Given the description of an element on the screen output the (x, y) to click on. 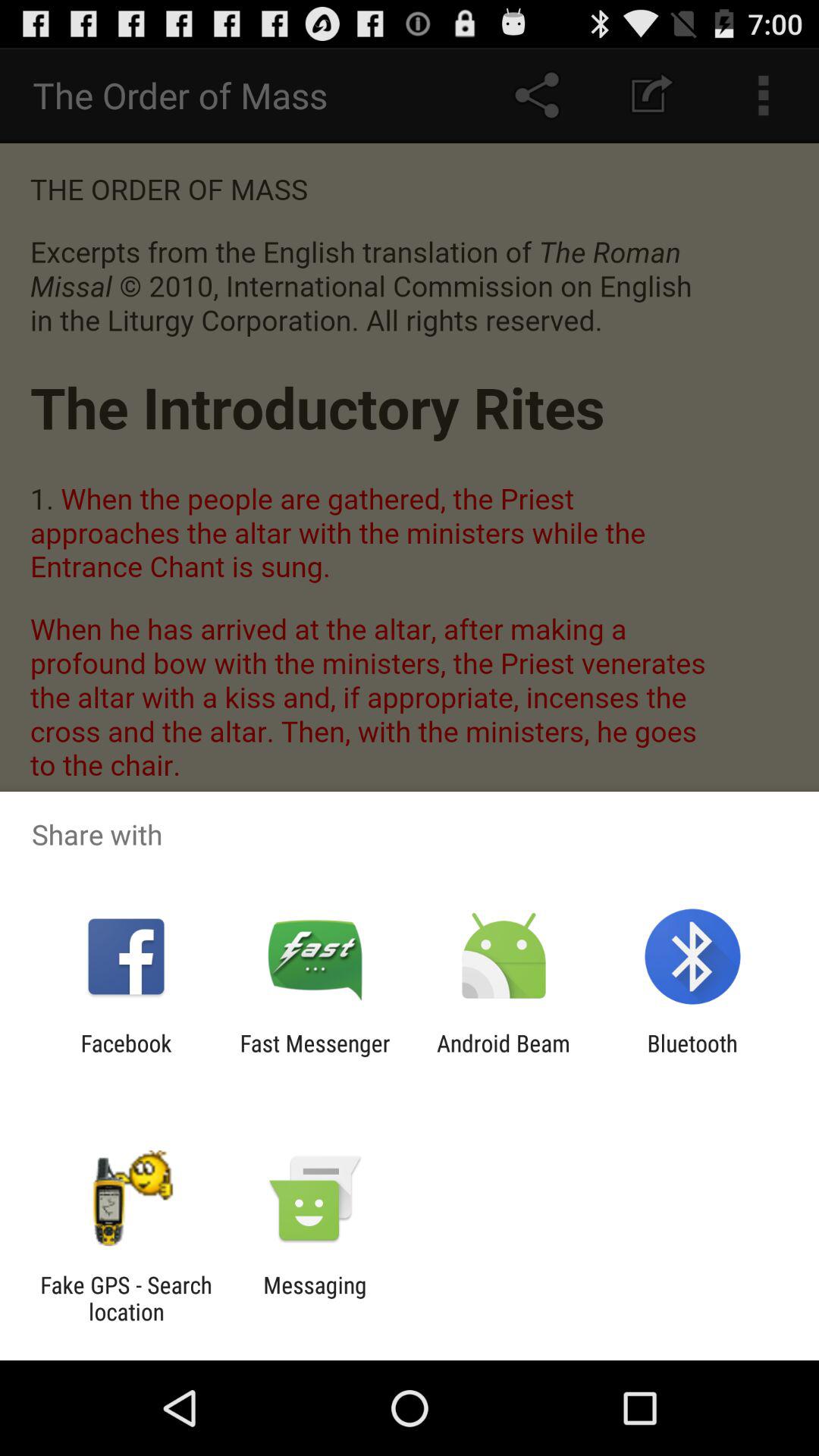
open the android beam icon (503, 1056)
